Given the description of an element on the screen output the (x, y) to click on. 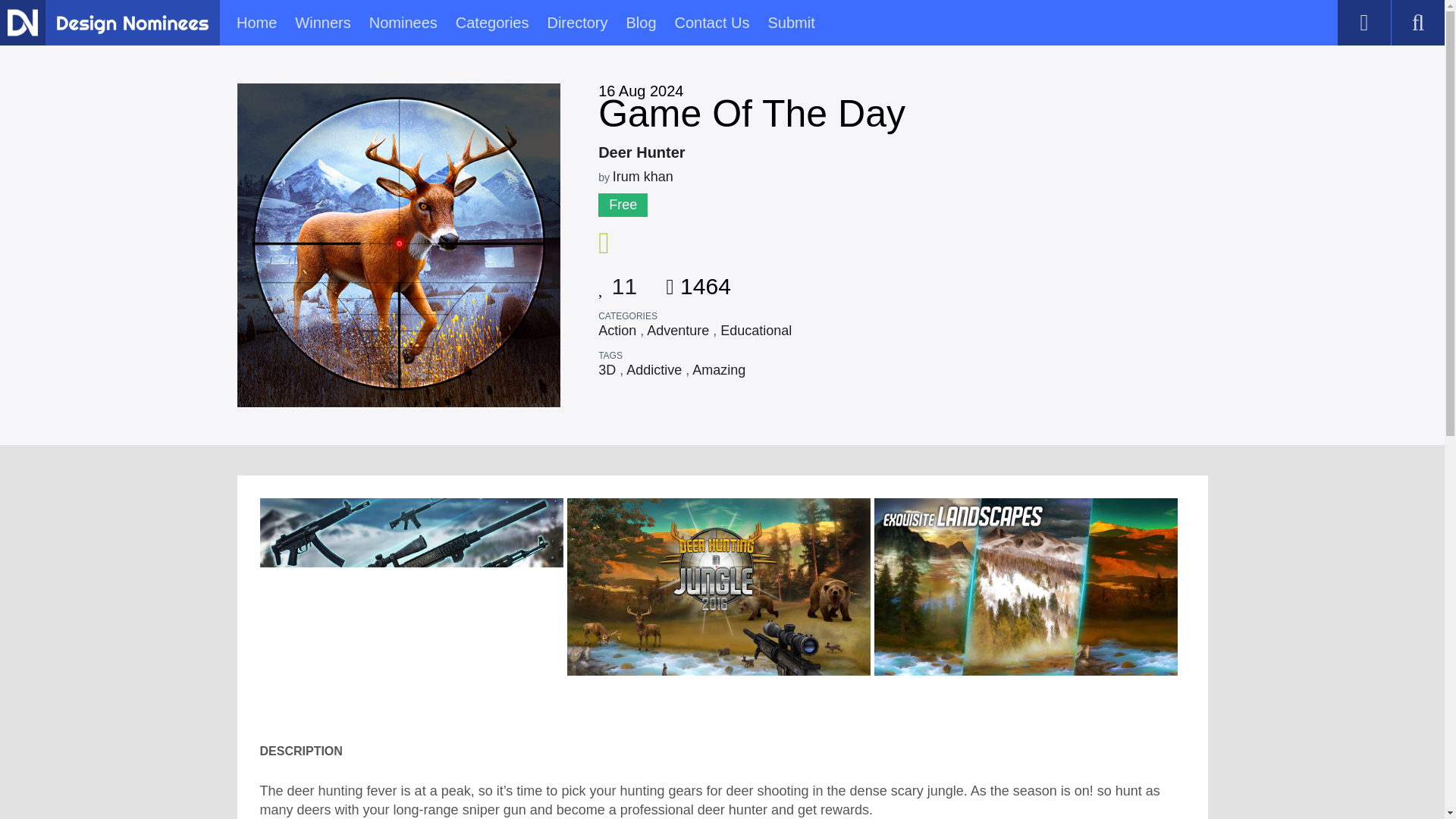
Design Nominees (22, 22)
3D (606, 369)
Categories (492, 22)
Submit (790, 22)
Amazing (719, 369)
Action (617, 330)
Educational (756, 330)
11 (617, 281)
Winners (322, 22)
Design Nominees (132, 24)
